Given the description of an element on the screen output the (x, y) to click on. 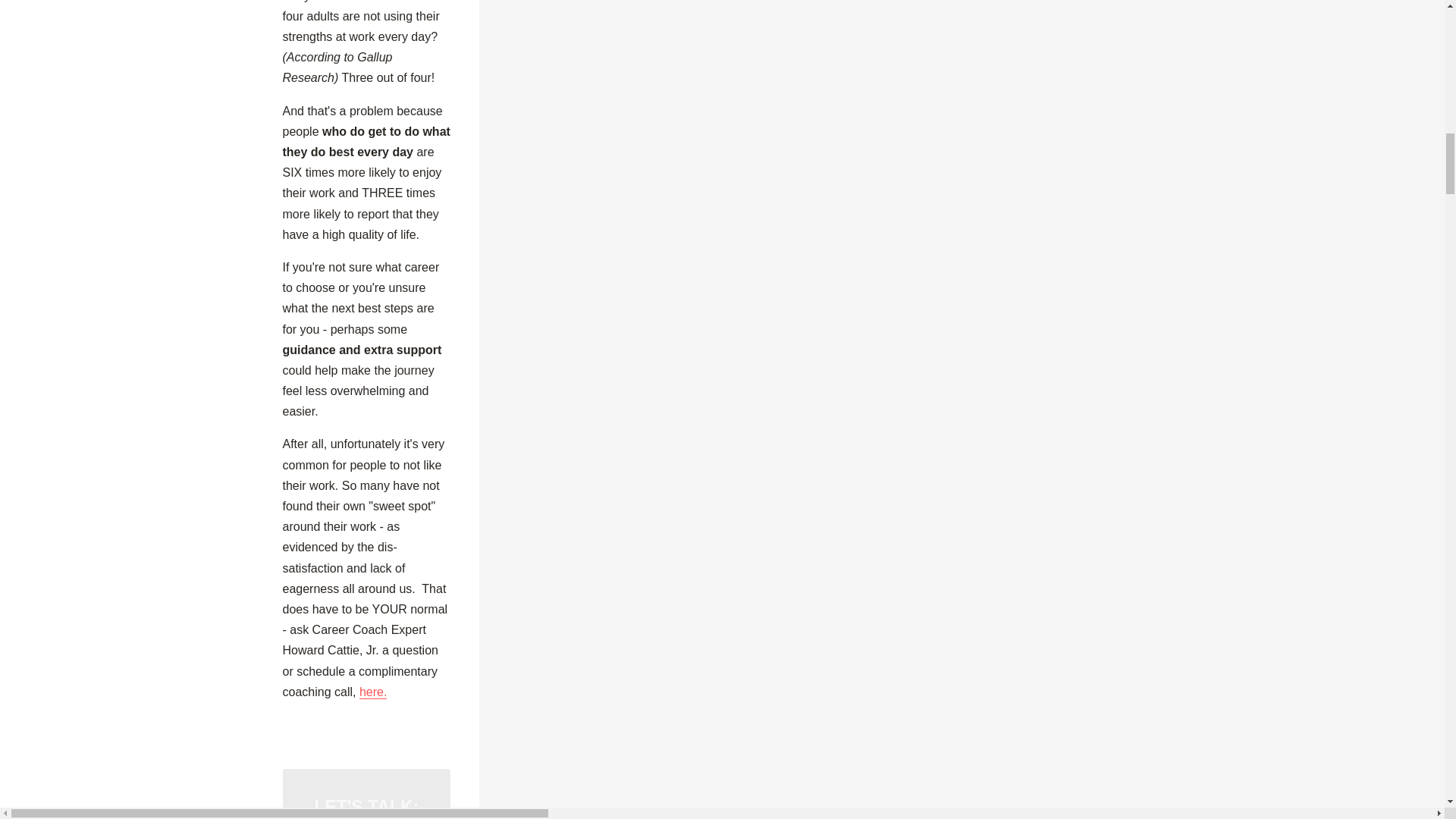
here. (373, 692)
